Given the description of an element on the screen output the (x, y) to click on. 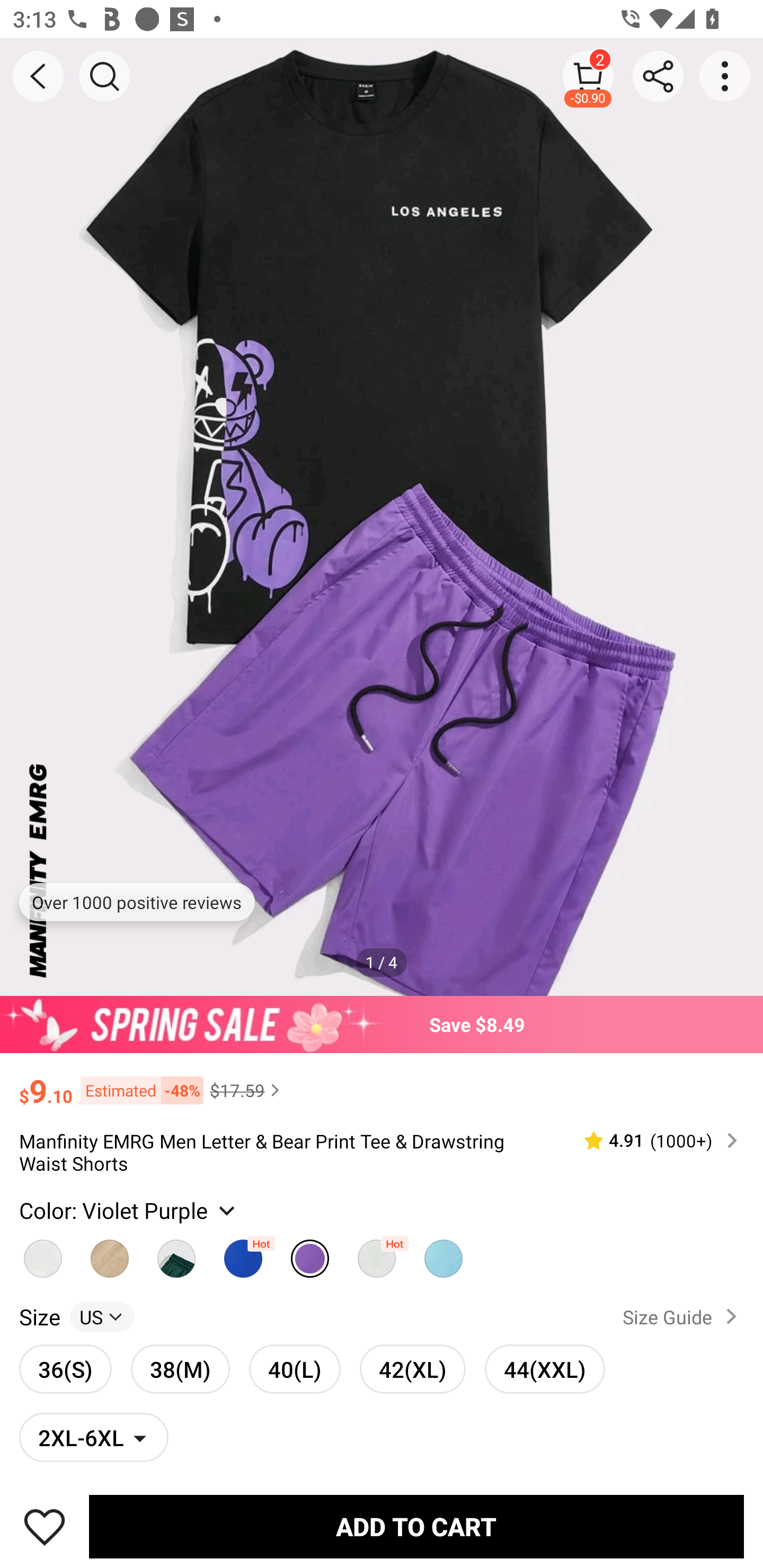
BACK (38, 75)
2 -$0.90 (588, 75)
1 / 4 (381, 962)
Save $8.49 (381, 1024)
$9.10 Estimated -48% $17.59 (381, 1082)
Estimated -48% (137, 1089)
$17.59 (246, 1090)
4.91 (1000‎+) (653, 1139)
Color: Violet Purple (129, 1209)
Khaki (42, 1253)
Khaki (109, 1253)
Green (176, 1253)
Royal Blue (242, 1253)
Violet Purple (309, 1253)
Baby Blue (376, 1253)
Mint Blue (443, 1253)
Size (39, 1316)
US (102, 1316)
Size Guide (682, 1316)
36(S) 36(S)unselected option (65, 1368)
38(M) 38(M)unselected option (180, 1368)
40(L) 40(L)unselected option (294, 1368)
42(XL) 42(XL)unselected option (412, 1368)
44(XXL) 44(XXL)unselected option (544, 1368)
2XL-6XL  2XL-6XL unselected option (93, 1436)
ADD TO CART (416, 1526)
Save (44, 1526)
